Given the description of an element on the screen output the (x, y) to click on. 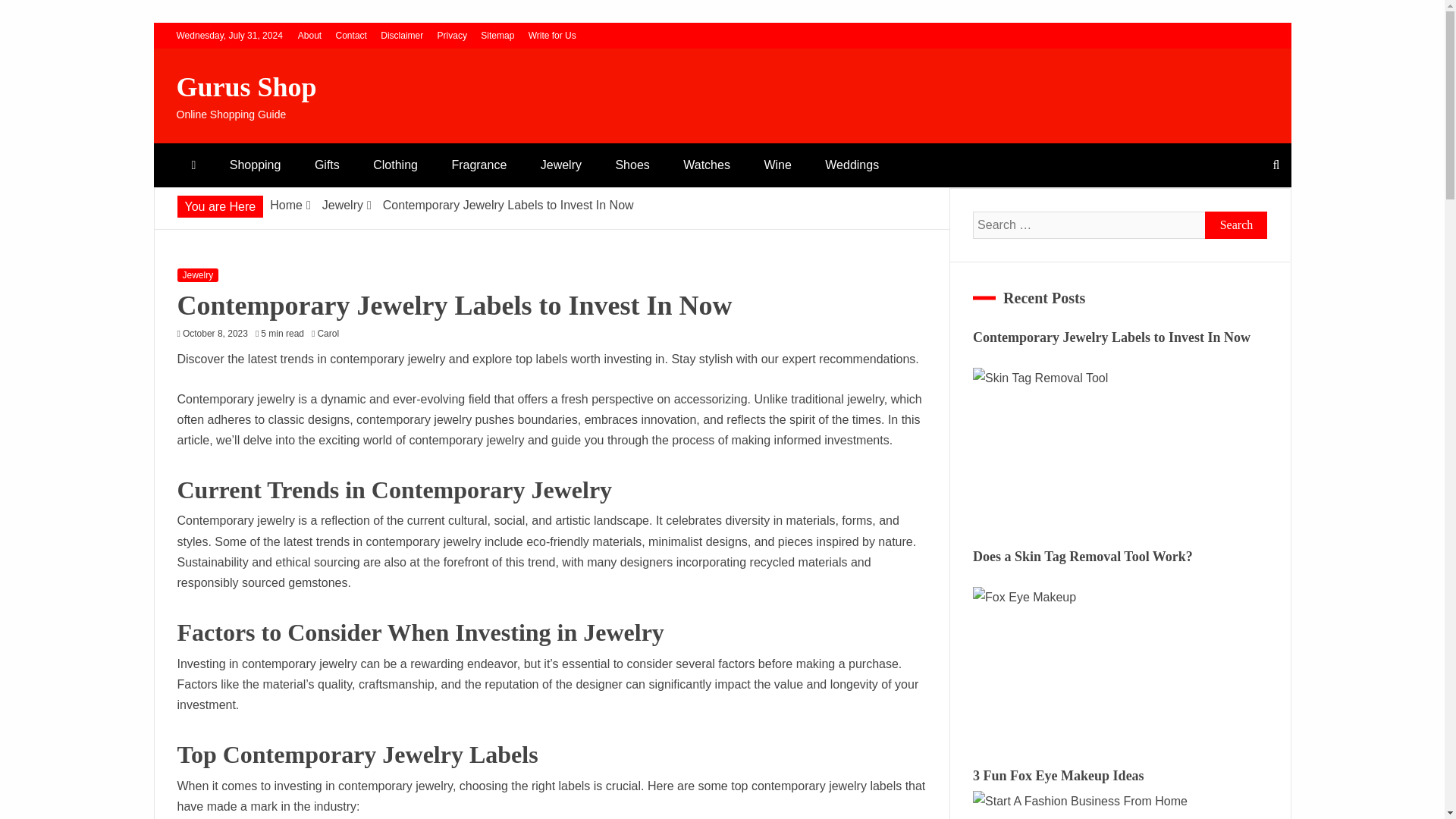
Home (285, 205)
Gurus Shop (245, 87)
October 8, 2023 (215, 333)
Search (31, 13)
Gifts (327, 164)
Sitemap (496, 35)
About (309, 35)
Contact (351, 35)
Shopping (255, 164)
Watches (706, 164)
Search (1235, 225)
Jewelry (560, 164)
Jewelry (341, 205)
Search (1235, 225)
Carol (331, 333)
